Given the description of an element on the screen output the (x, y) to click on. 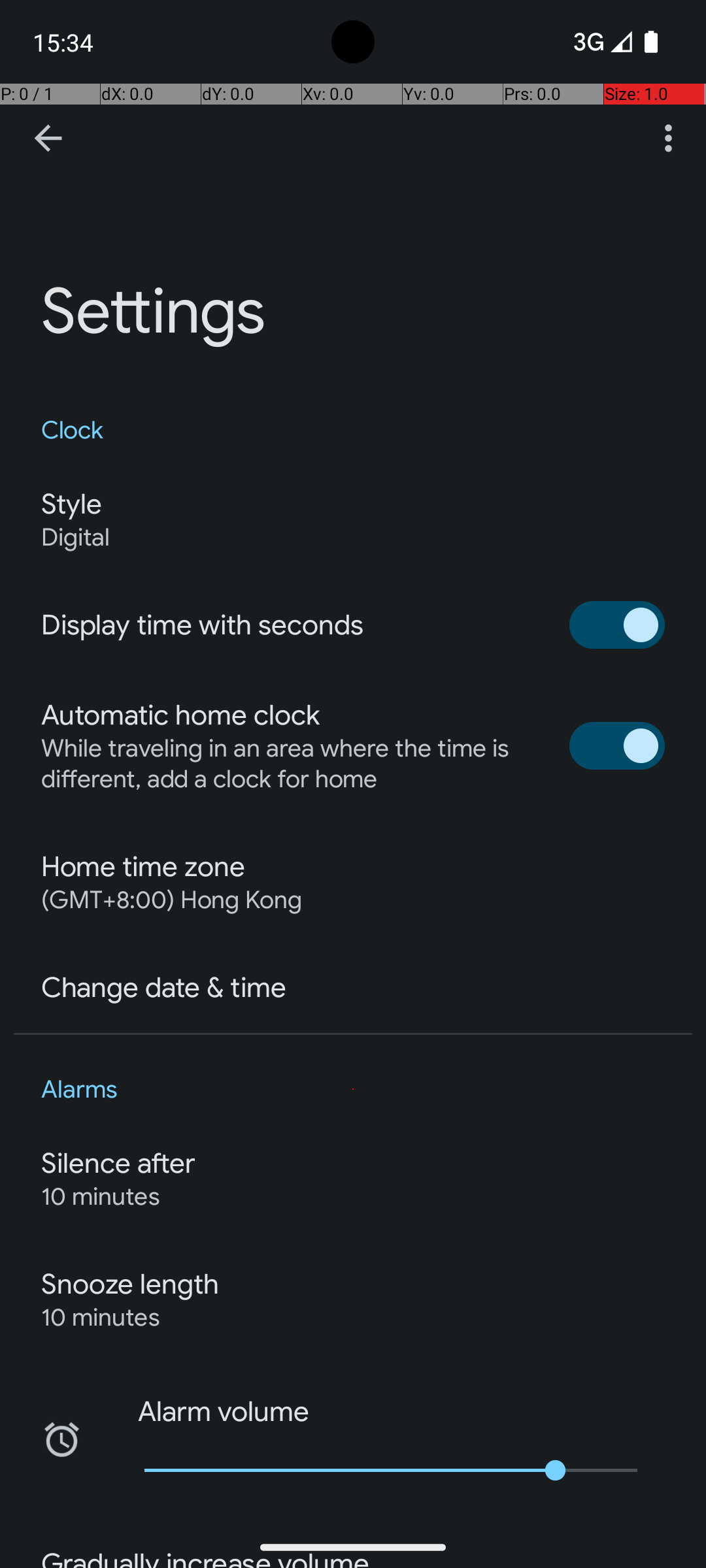
Style Element type: android.widget.TextView (71, 504)
Digital Element type: android.widget.TextView (75, 537)
Display time with seconds Element type: android.widget.TextView (202, 624)
Automatic home clock Element type: android.widget.TextView (180, 715)
While traveling in an area where the time is different, add a clock for home Element type: android.widget.TextView (291, 763)
Home time zone Element type: android.widget.TextView (143, 866)
(GMT+8:00) Hong Kong Element type: android.widget.TextView (171, 899)
Change date & time Element type: android.widget.TextView (163, 987)
Alarms Element type: android.widget.TextView (352, 1089)
Silence after Element type: android.widget.TextView (118, 1163)
10 minutes Element type: android.widget.TextView (100, 1196)
Snooze length Element type: android.widget.TextView (129, 1284)
Gradually increase volume Element type: android.widget.TextView (205, 1557)
